Given the description of an element on the screen output the (x, y) to click on. 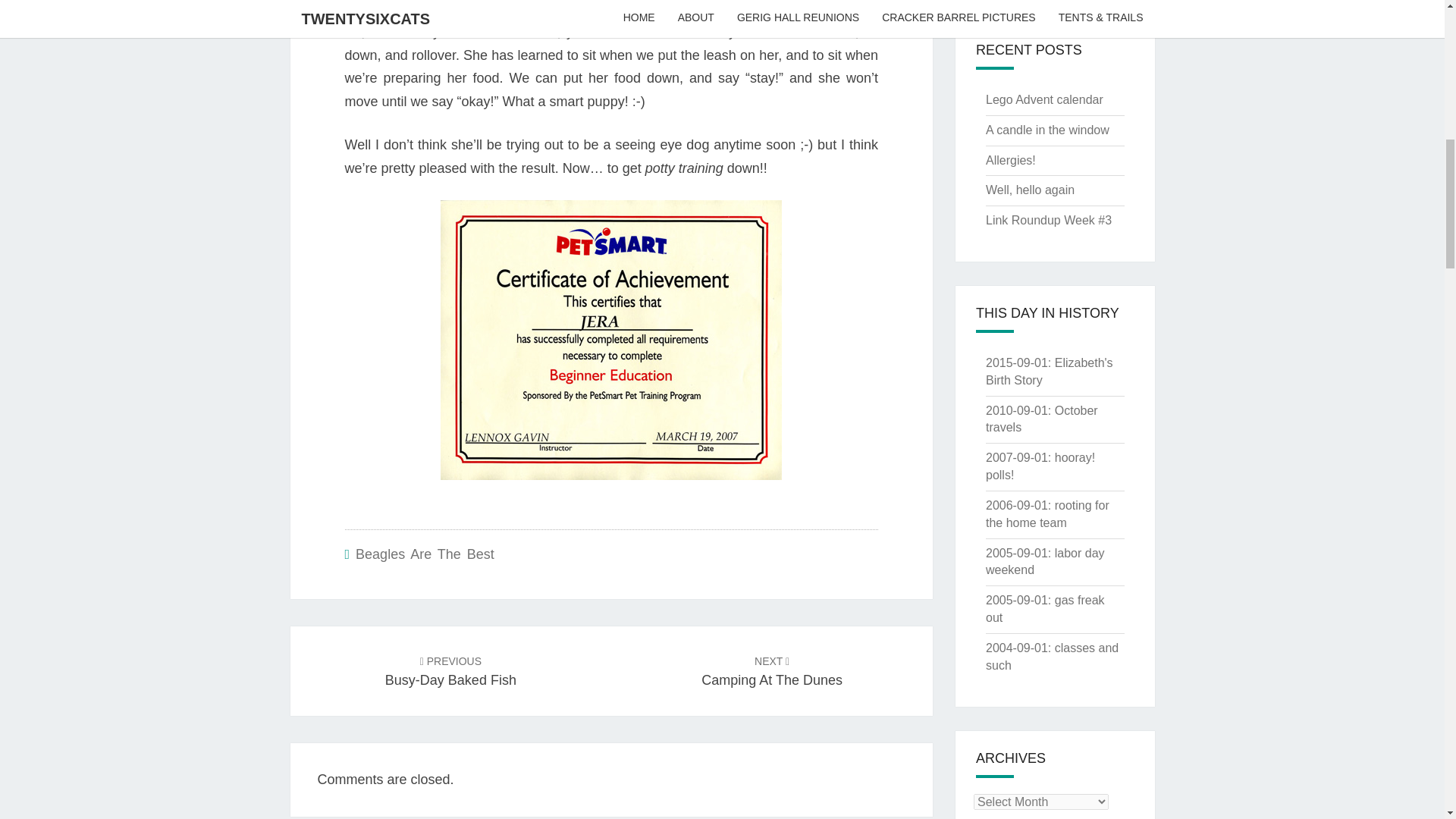
A candle in the window (1047, 129)
gas freak out (1045, 608)
Beagles Are The Best (425, 554)
October travels (450, 669)
labor day weekend (1041, 419)
Allergies! (1045, 562)
hooray! polls! (1010, 160)
rooting for the home team (1039, 466)
Well, hello again (1047, 513)
